Given the description of an element on the screen output the (x, y) to click on. 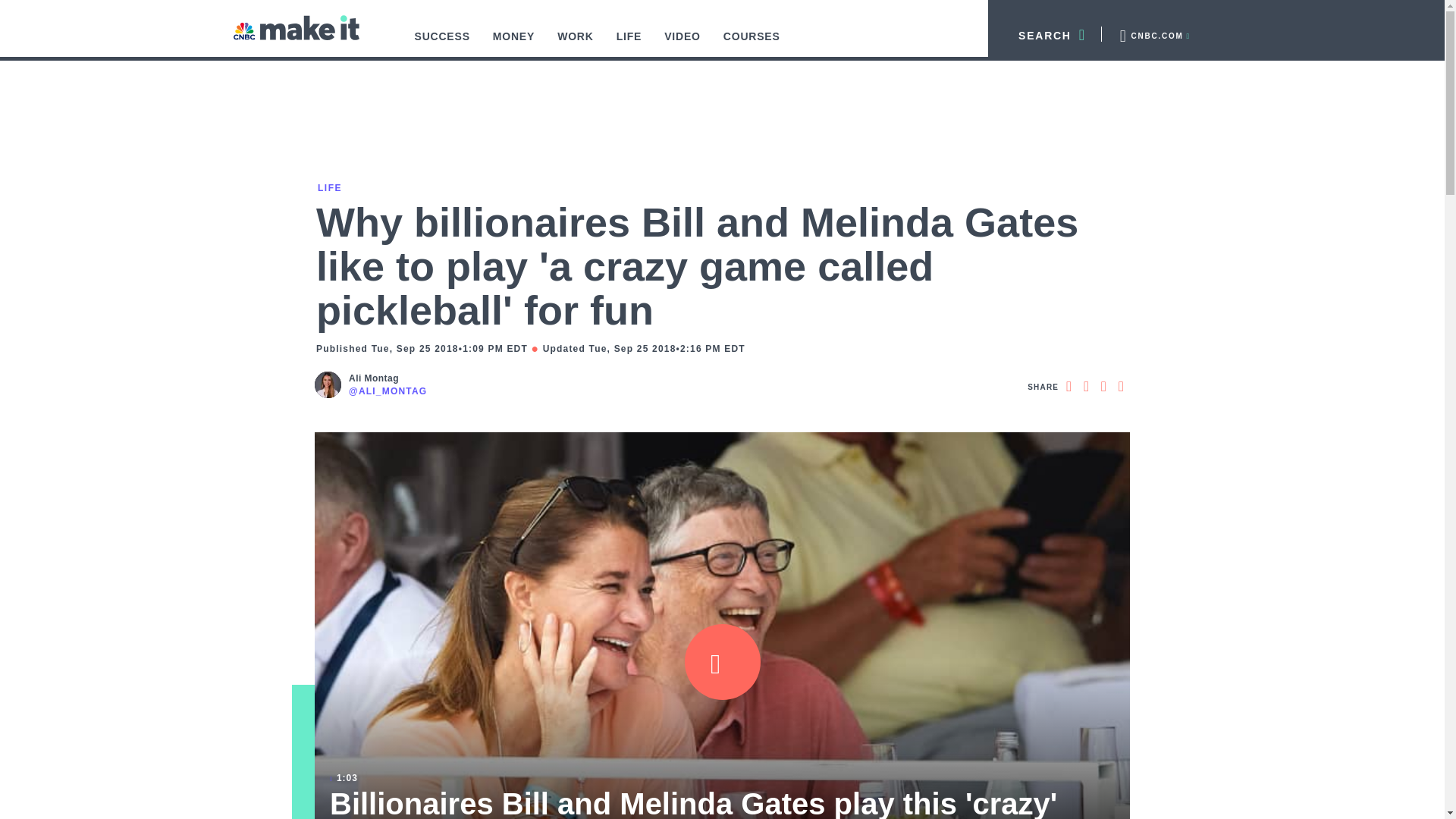
LIFE (629, 44)
Share Article via Facebook (1068, 386)
COURSES (751, 44)
SEARCH (1045, 33)
VIDEO (681, 44)
CNBC.COM (1153, 33)
Share Article via LinkedIn (1103, 386)
MONEY (513, 44)
WORK (575, 44)
LIFE (328, 187)
